Given the description of an element on the screen output the (x, y) to click on. 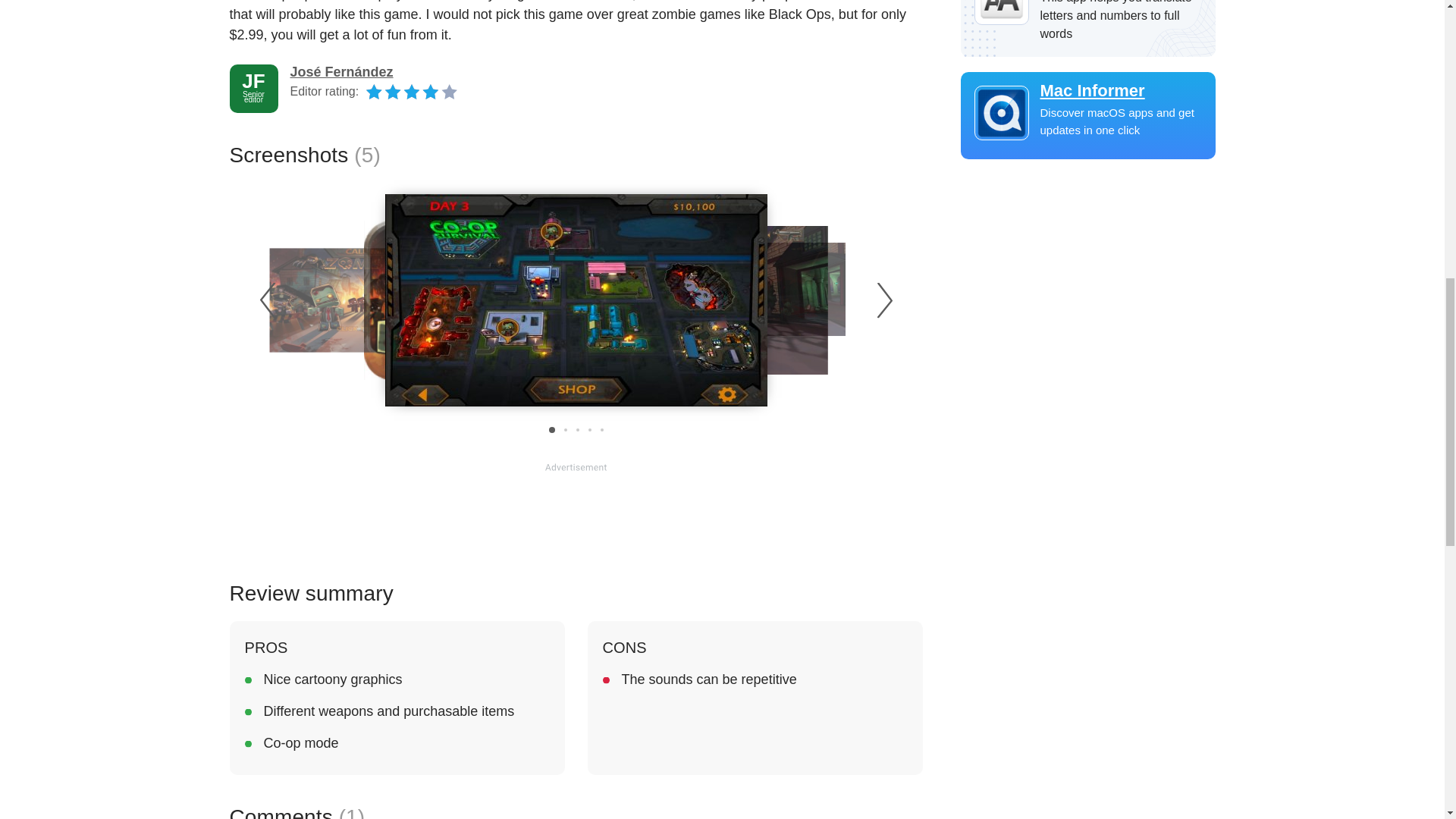
Mac Informer (1087, 90)
